Given the description of an element on the screen output the (x, y) to click on. 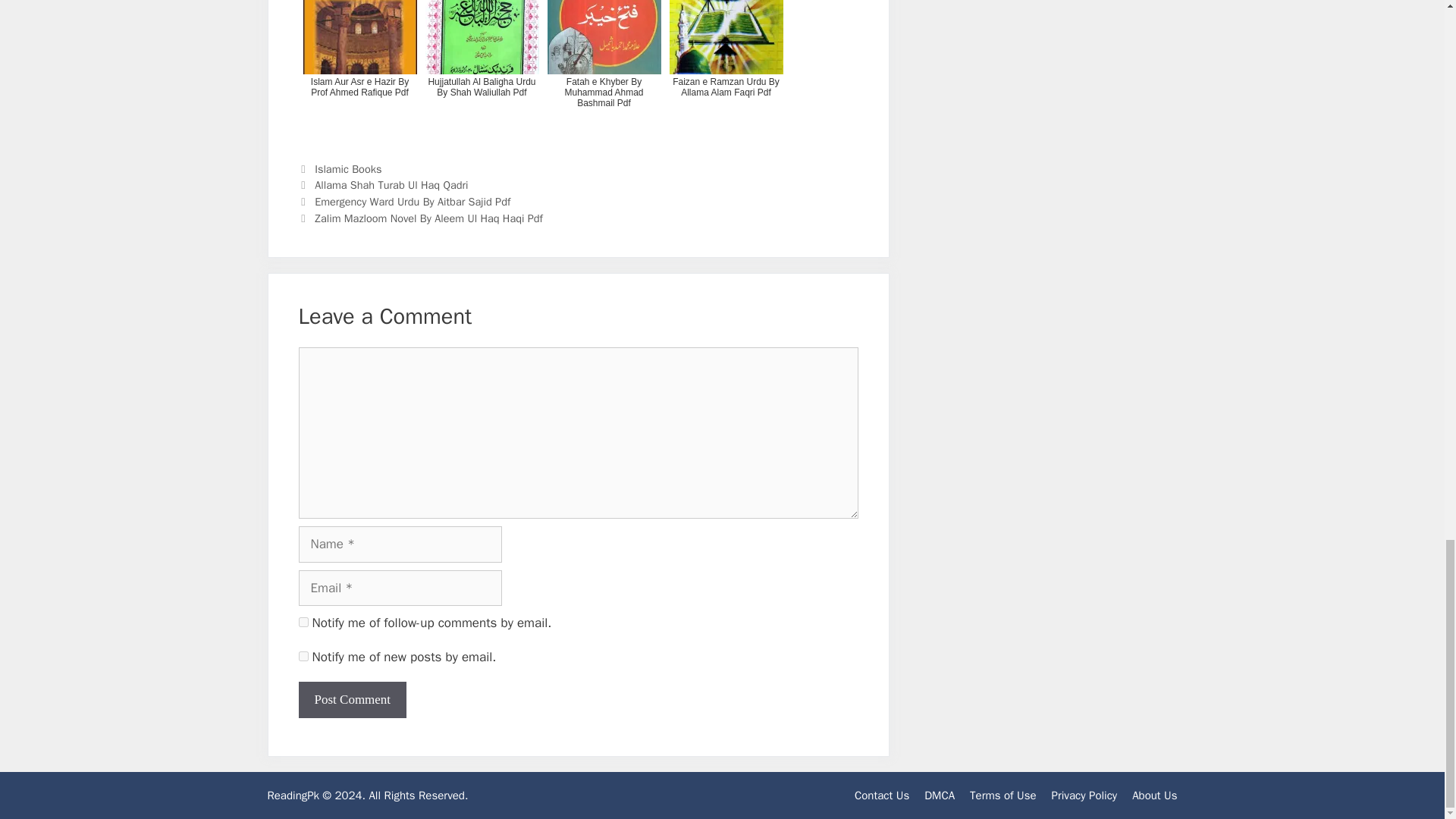
Fatah e Khyber By Muhammad Ahmad Bashmail Pdf (604, 67)
Hujjatullah Al Baligha Urdu By Shah Waliullah Pdf (481, 67)
Faizan e Ramzan Urdu By Allama Alam Faqri Pdf (725, 67)
Islam Aur Asr e Hazir By Prof Ahmed Rafique Pdf (360, 67)
Allama Shah Turab Ul Haq Qadri (390, 184)
subscribe (303, 622)
subscribe (303, 655)
Post Comment (352, 699)
Zalim Mazloom Novel By Aleem Ul Haq Haqi Pdf (428, 218)
Islamic Books (347, 169)
Emergency Ward Urdu By Aitbar Sajid Pdf (412, 201)
